Given the description of an element on the screen output the (x, y) to click on. 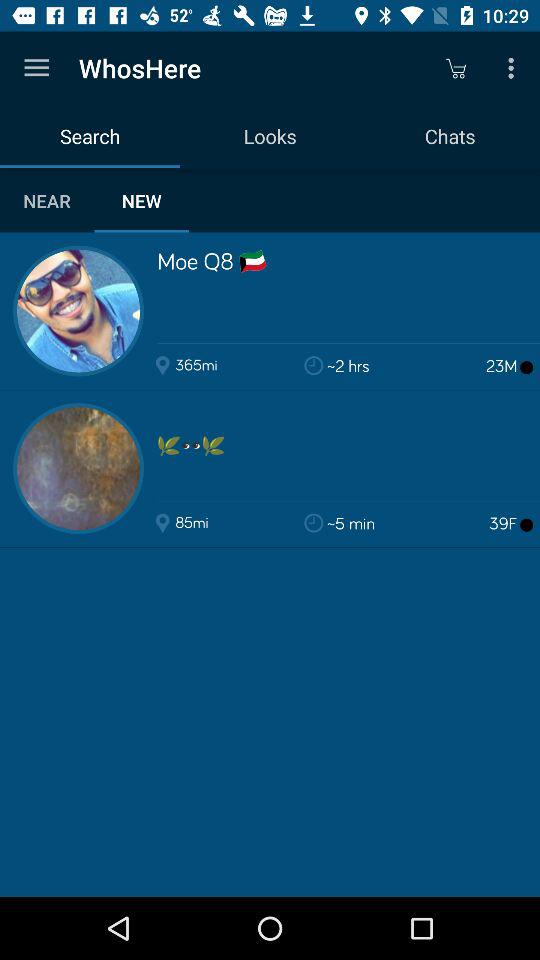
launch icon above the chats (513, 67)
